Given the description of an element on the screen output the (x, y) to click on. 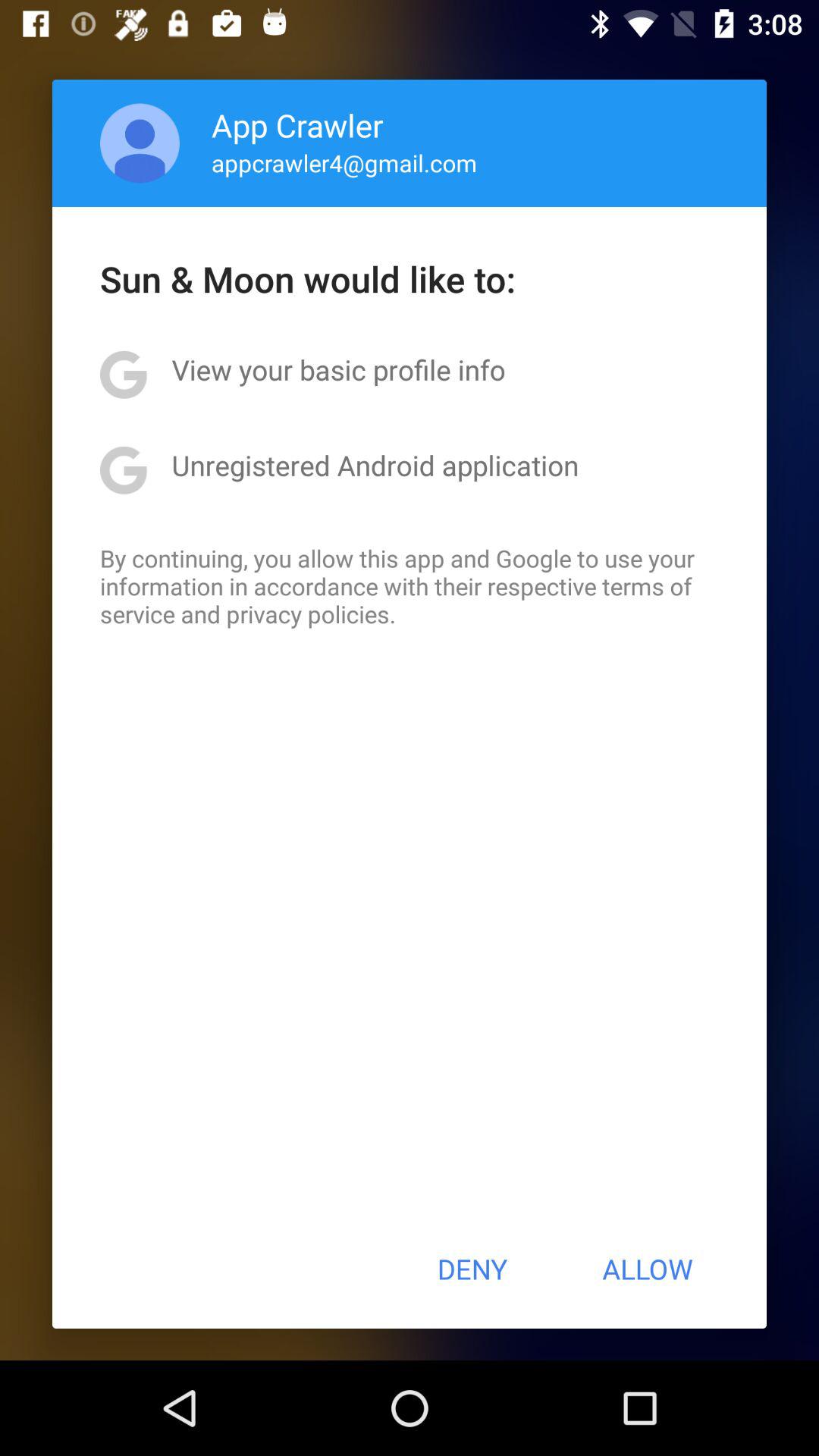
click the icon above unregistered android application item (338, 369)
